Given the description of an element on the screen output the (x, y) to click on. 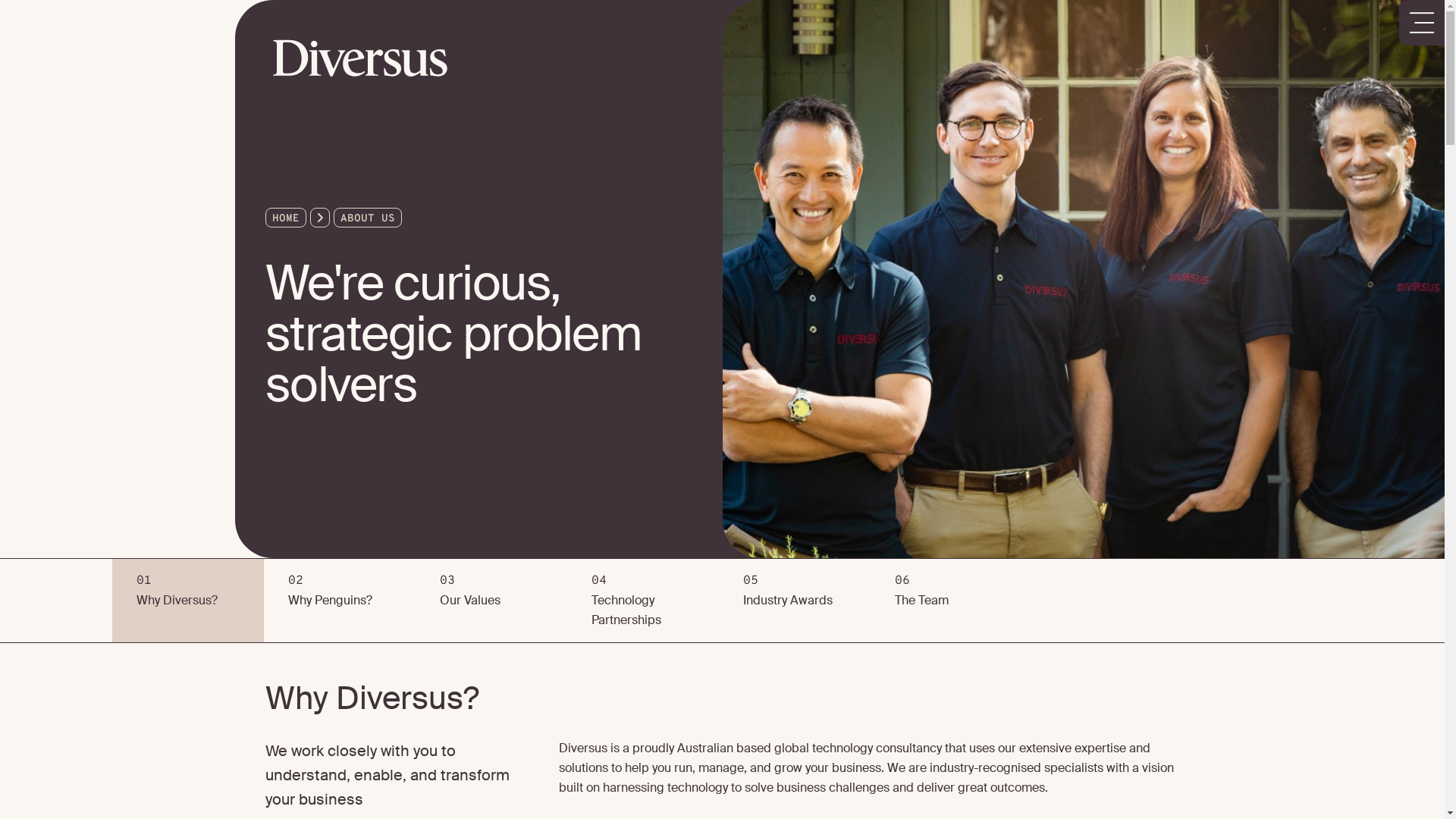
05
Industry Awards Element type: text (794, 600)
02
Why Penguins? Element type: text (339, 600)
06
The Team Element type: text (946, 600)
HOME Element type: text (284, 218)
01
Why Diversus? Element type: text (187, 600)
04
Technology Partnerships Element type: text (642, 600)
03
Our Values Element type: text (491, 600)
ABOUT US Element type: text (366, 218)
